Given the description of an element on the screen output the (x, y) to click on. 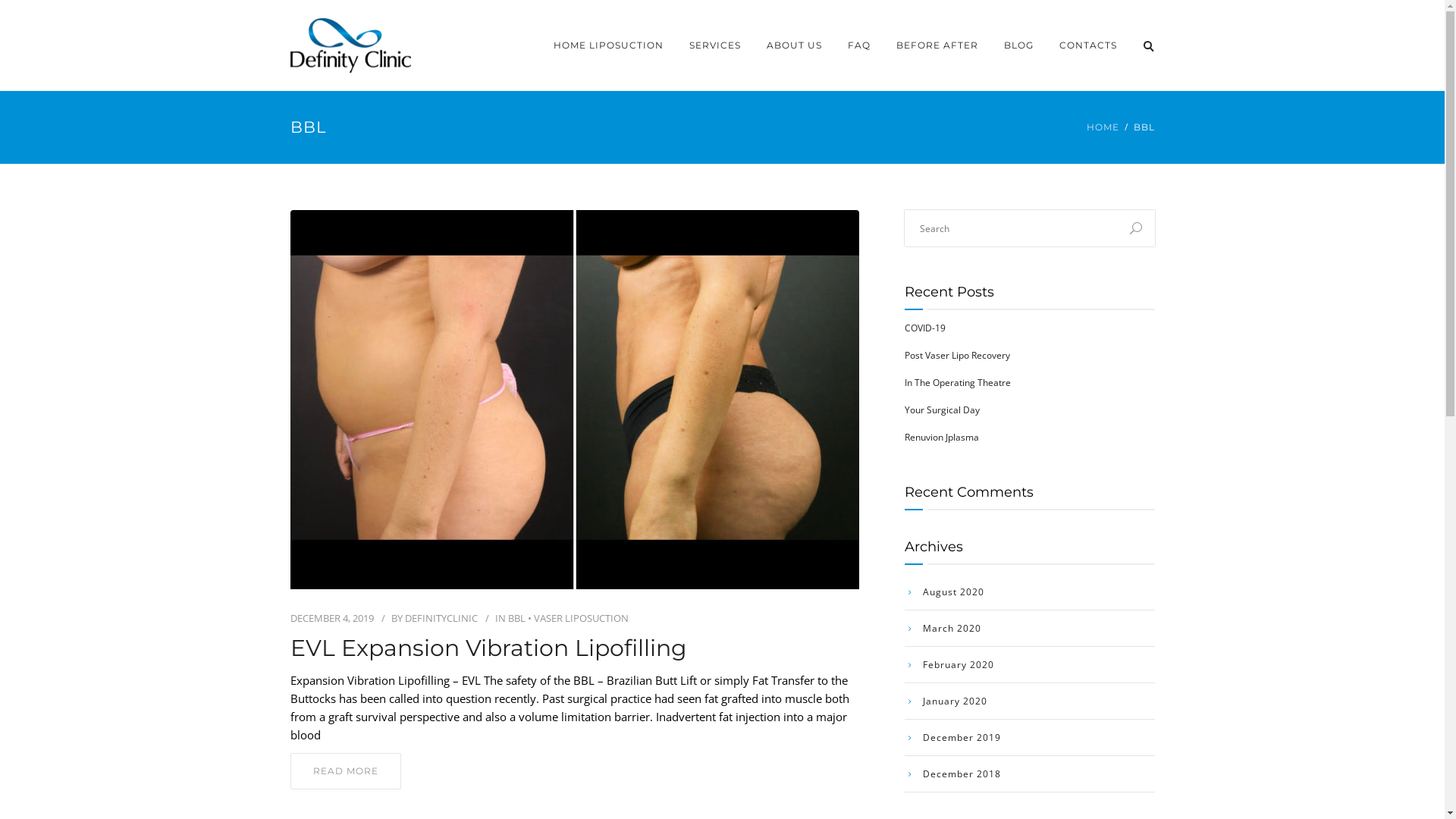
CONTACTS Element type: text (1088, 45)
COVID-19 Element type: text (923, 327)
BLOG Element type: text (1017, 45)
February 2020 Element type: text (948, 664)
U Element type: text (1135, 228)
August 2020 Element type: text (943, 592)
Renuvion Jplasma Element type: text (940, 436)
DEFINITYCLINIC Element type: text (440, 617)
BEFORE AFTER Element type: text (936, 45)
March 2020 Element type: text (941, 628)
HOME Element type: text (1101, 127)
December 2019 Element type: text (951, 737)
ABOUT US Element type: text (794, 45)
HOME LIPOSUCTION Element type: text (607, 45)
In The Operating Theatre Element type: text (956, 382)
READ MORE Element type: text (344, 771)
December 2018 Element type: text (951, 774)
Post Vaser Lipo Recovery Element type: text (956, 354)
January 2020 Element type: text (944, 701)
Your Surgical Day Element type: text (941, 409)
FAQ Element type: text (858, 45)
VASER LIPOSUCTION Element type: text (580, 617)
BBL Element type: text (516, 617)
SERVICES Element type: text (714, 45)
EVL Expansion Vibration Lipofilling Element type: text (573, 648)
